Given the description of an element on the screen output the (x, y) to click on. 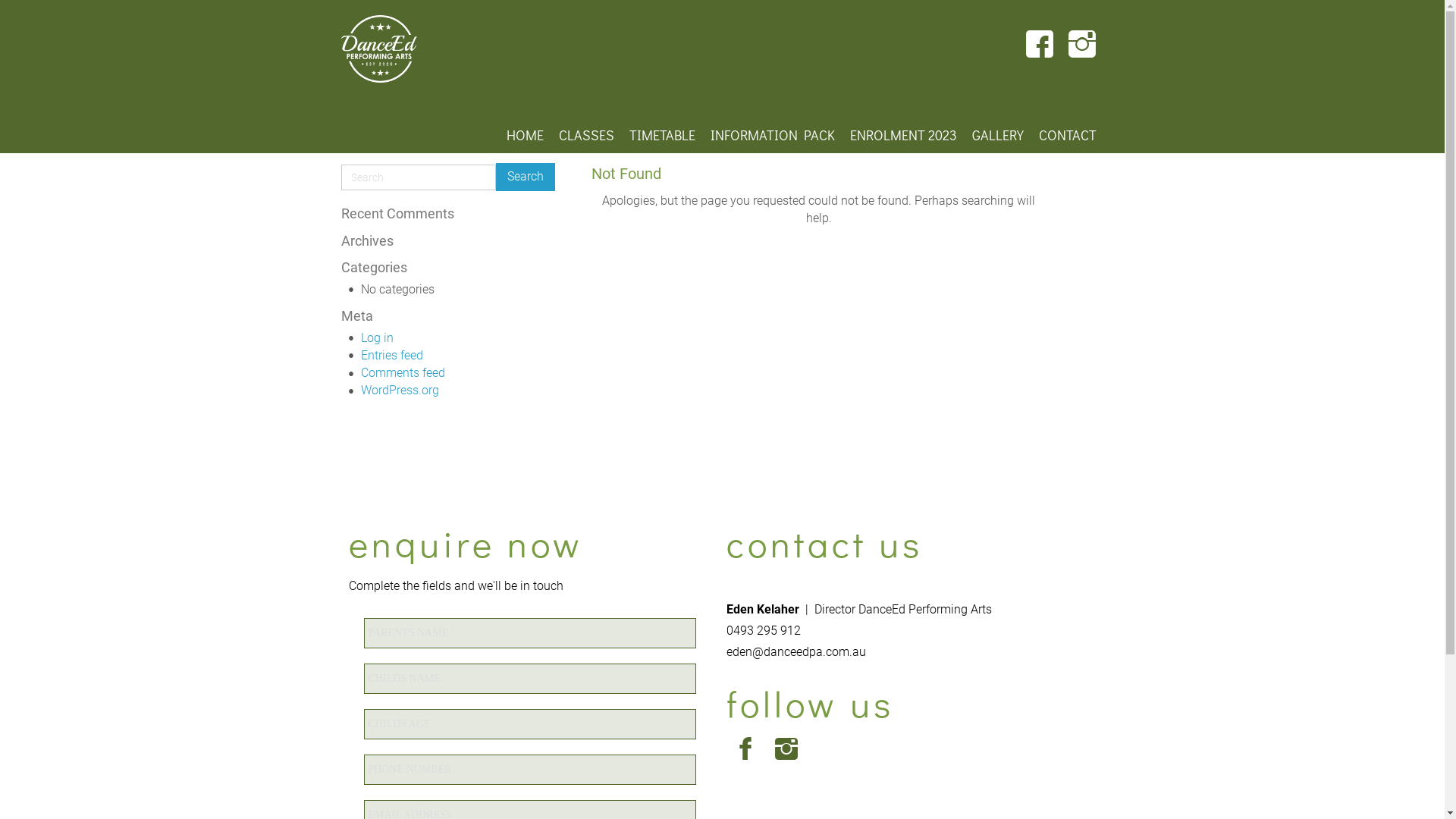
INFORMATION PACK Element type: text (771, 135)
PARENTS NAME Element type: hover (530, 633)
CLASSES Element type: text (585, 135)
PHONE NUMBER Element type: hover (530, 769)
ENROLMENT 2023 Element type: text (902, 135)
TIMETABLE Element type: text (661, 135)
Search Element type: text (525, 177)
Comments feed Element type: text (402, 372)
0493 295 912 Element type: text (763, 630)
Log in Element type: text (376, 337)
HOME Element type: text (524, 135)
WordPress.org Element type: text (399, 389)
CHILDS AGE Element type: hover (530, 724)
CHILDS NAME Element type: hover (530, 678)
GALLERY Element type: text (997, 135)
Entries feed Element type: text (391, 355)
CONTACT Element type: text (1067, 135)
